Given the description of an element on the screen output the (x, y) to click on. 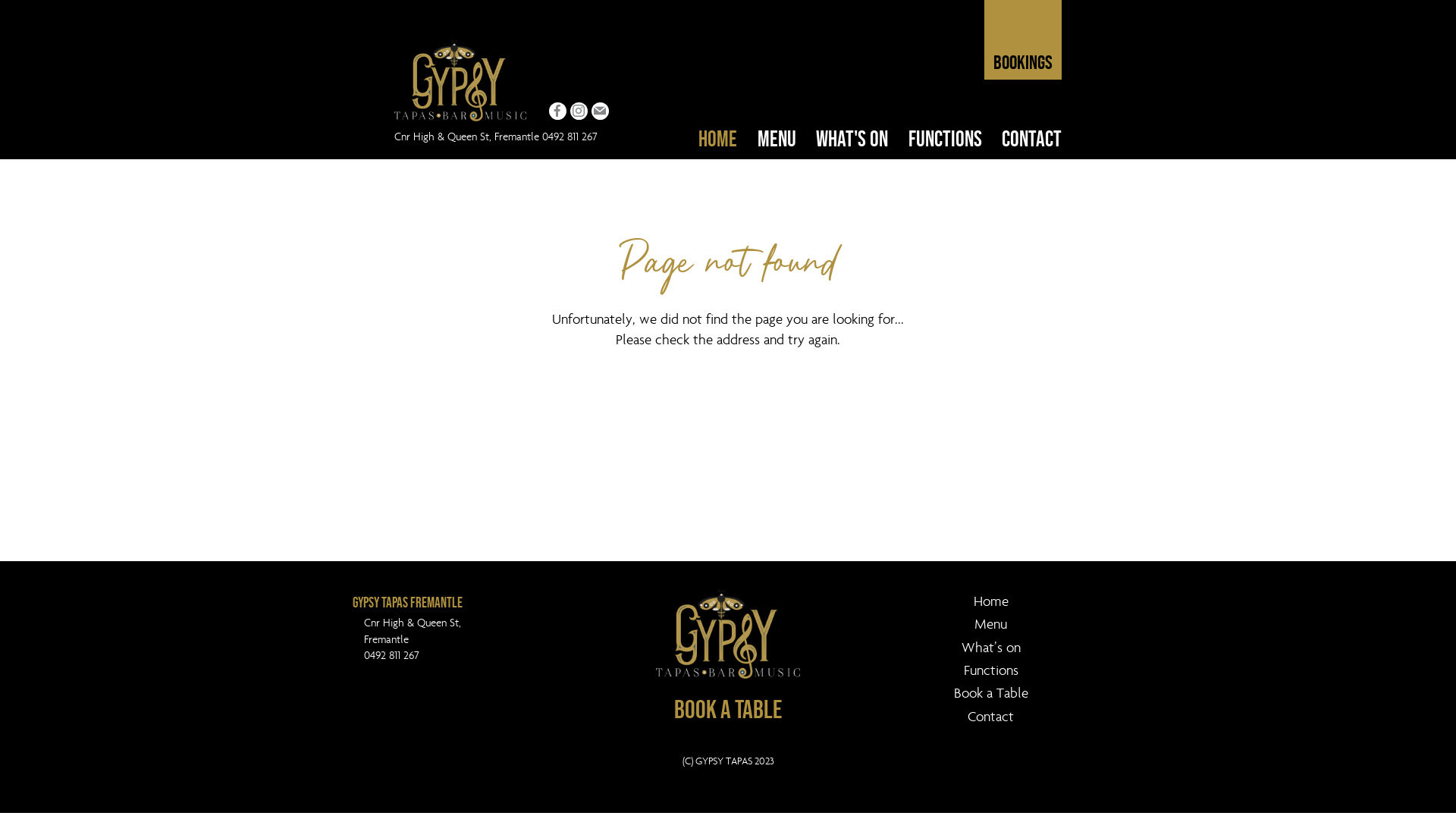
BOOK A TABLE Element type: text (727, 709)
  Element type: text (557, 110)
HOME Element type: text (718, 138)
MENU Element type: text (776, 138)
  Element type: text (578, 110)
Functions Element type: text (990, 669)
Contact Element type: text (990, 716)
BOOKINGS Element type: text (1022, 39)
CONTACT Element type: text (1031, 138)
FUNCTIONS Element type: text (944, 138)
Book a Table Element type: text (990, 693)
WHAT'S ON Element type: text (852, 138)
Menu Element type: text (990, 623)
Home Element type: text (990, 600)
  Element type: text (599, 110)
